Given the description of an element on the screen output the (x, y) to click on. 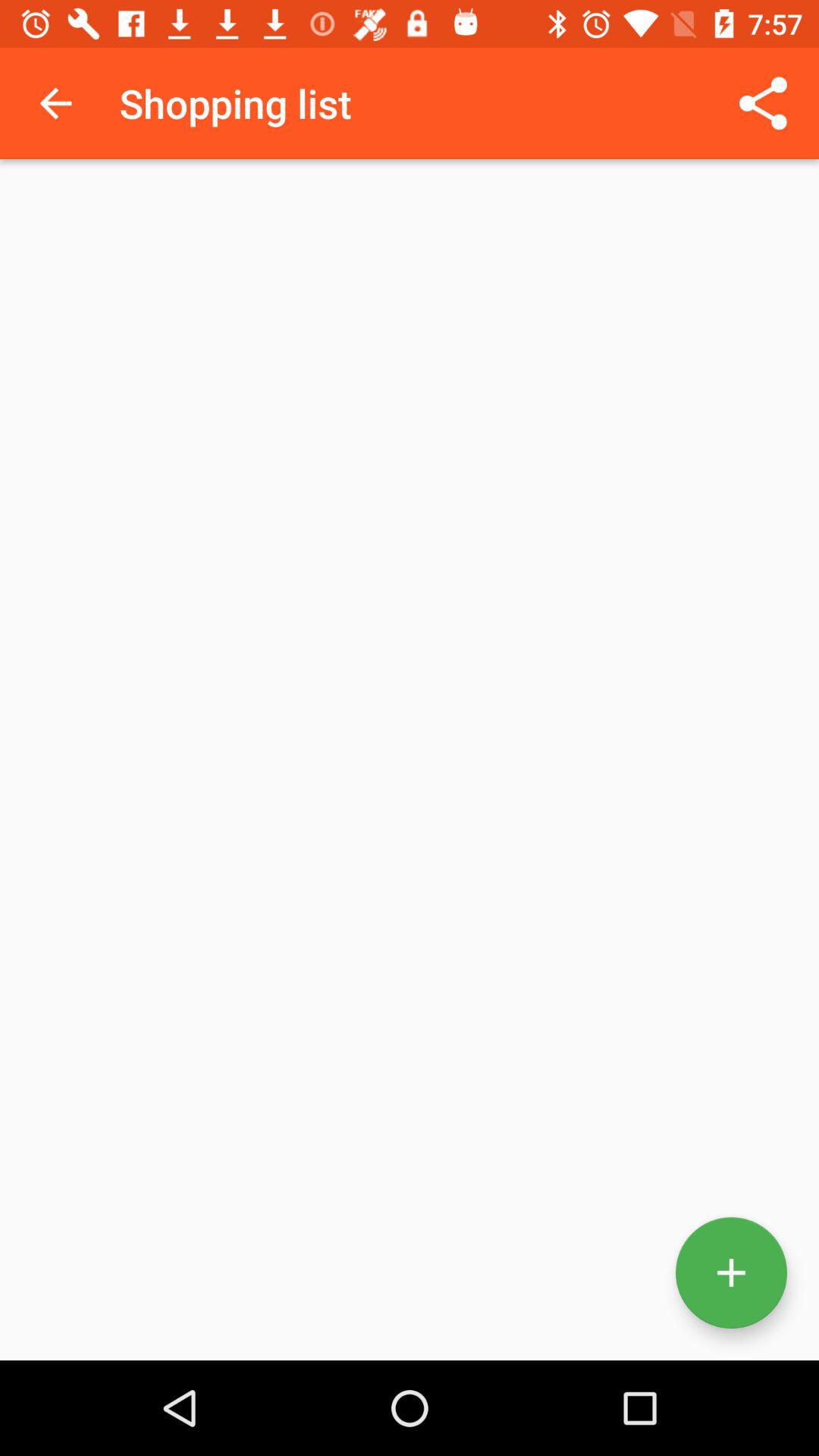
add item (731, 1272)
